Given the description of an element on the screen output the (x, y) to click on. 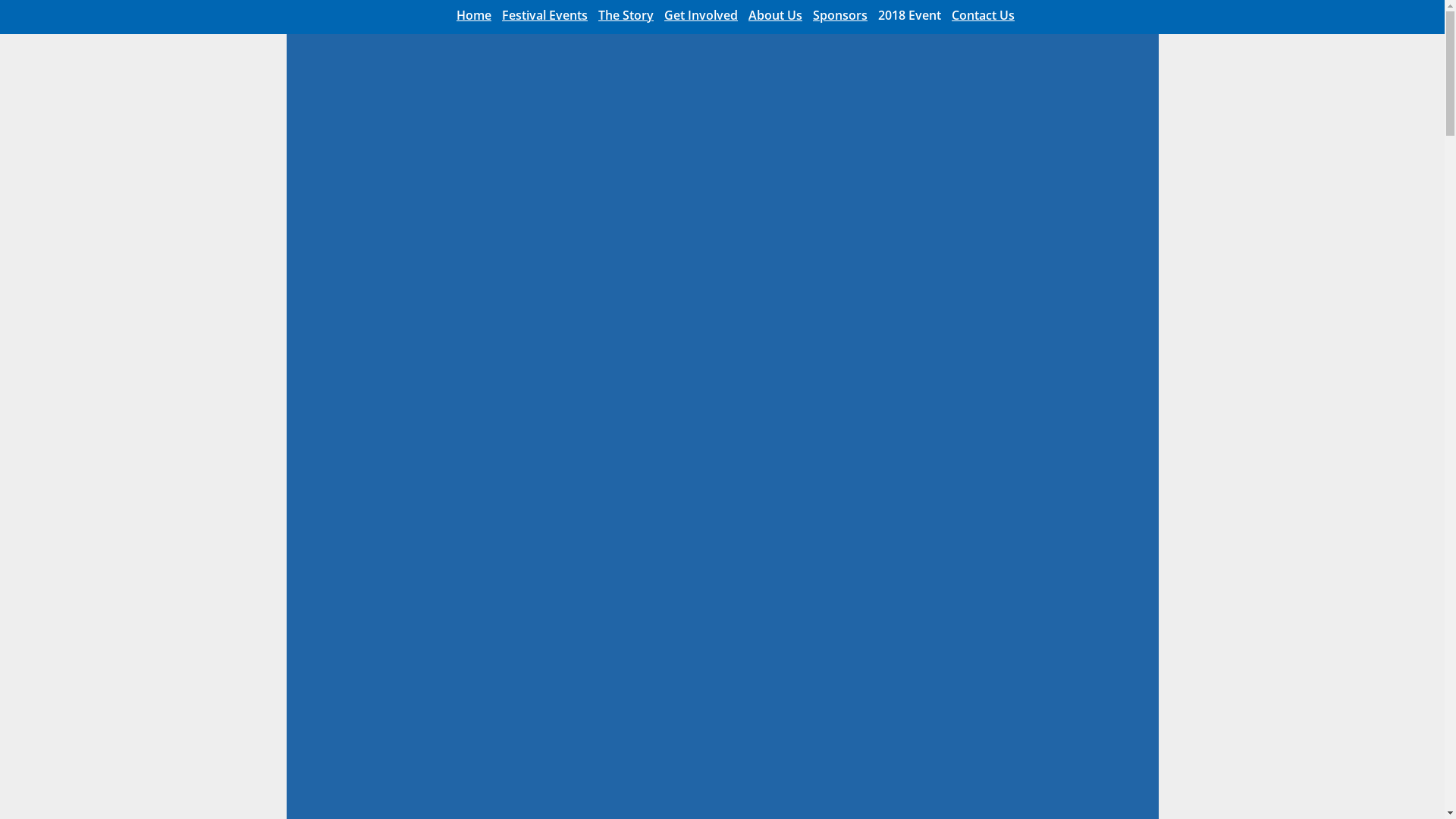
Skip to primary navigation Element type: text (0, 0)
